Given the description of an element on the screen output the (x, y) to click on. 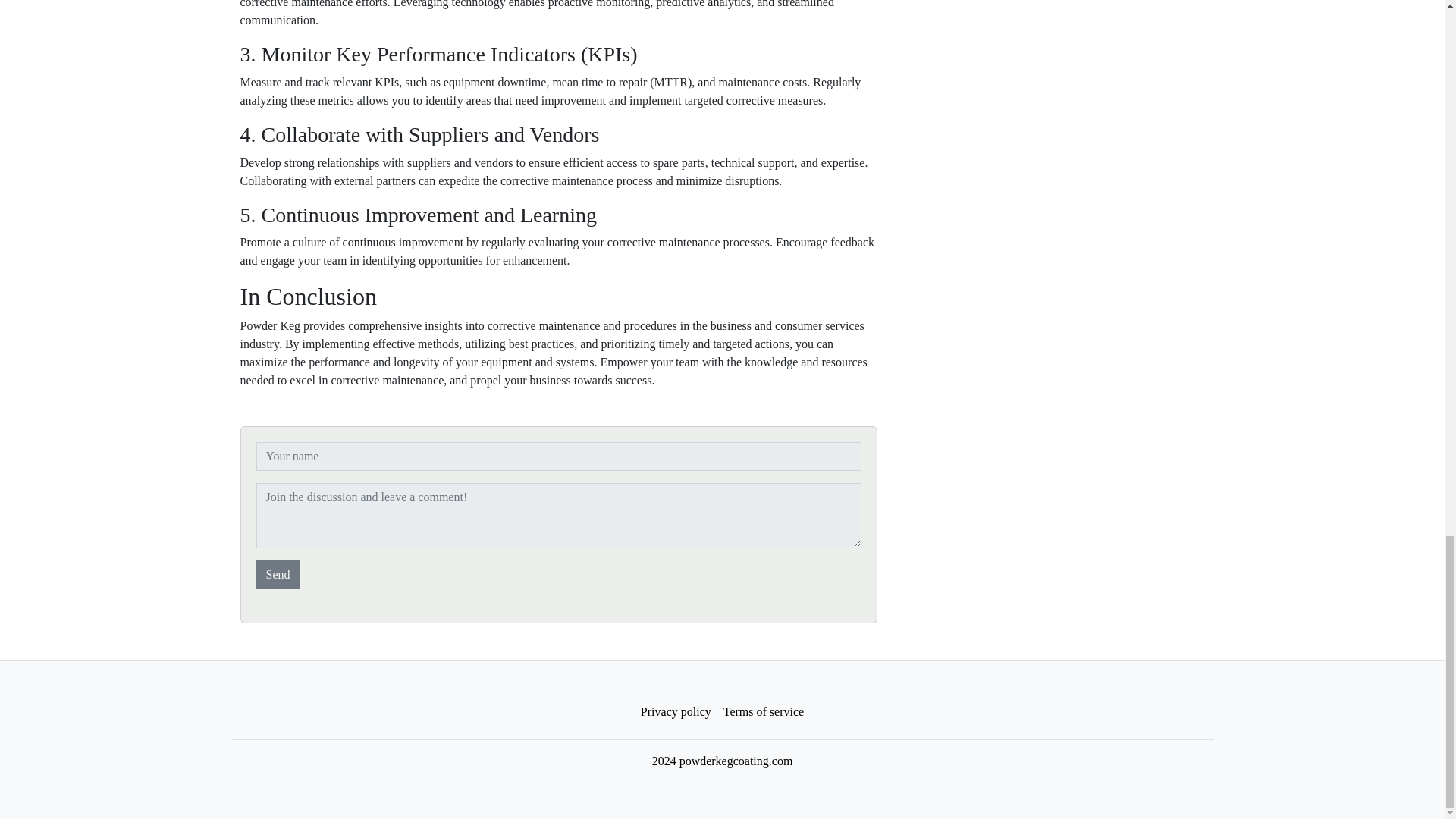
Send (277, 574)
Terms of service (763, 711)
Privacy policy (675, 711)
Send (277, 574)
